Given the description of an element on the screen output the (x, y) to click on. 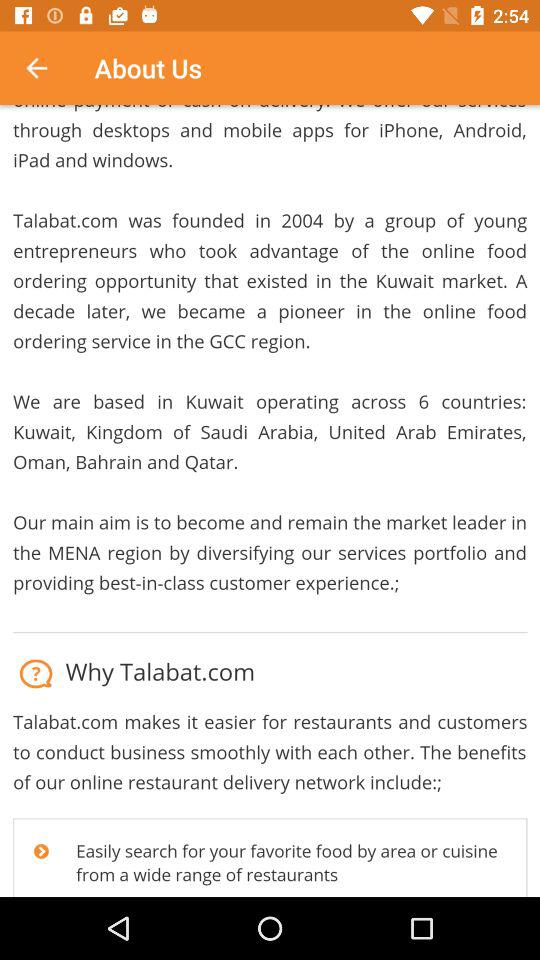
scrollable page (270, 501)
